Given the description of an element on the screen output the (x, y) to click on. 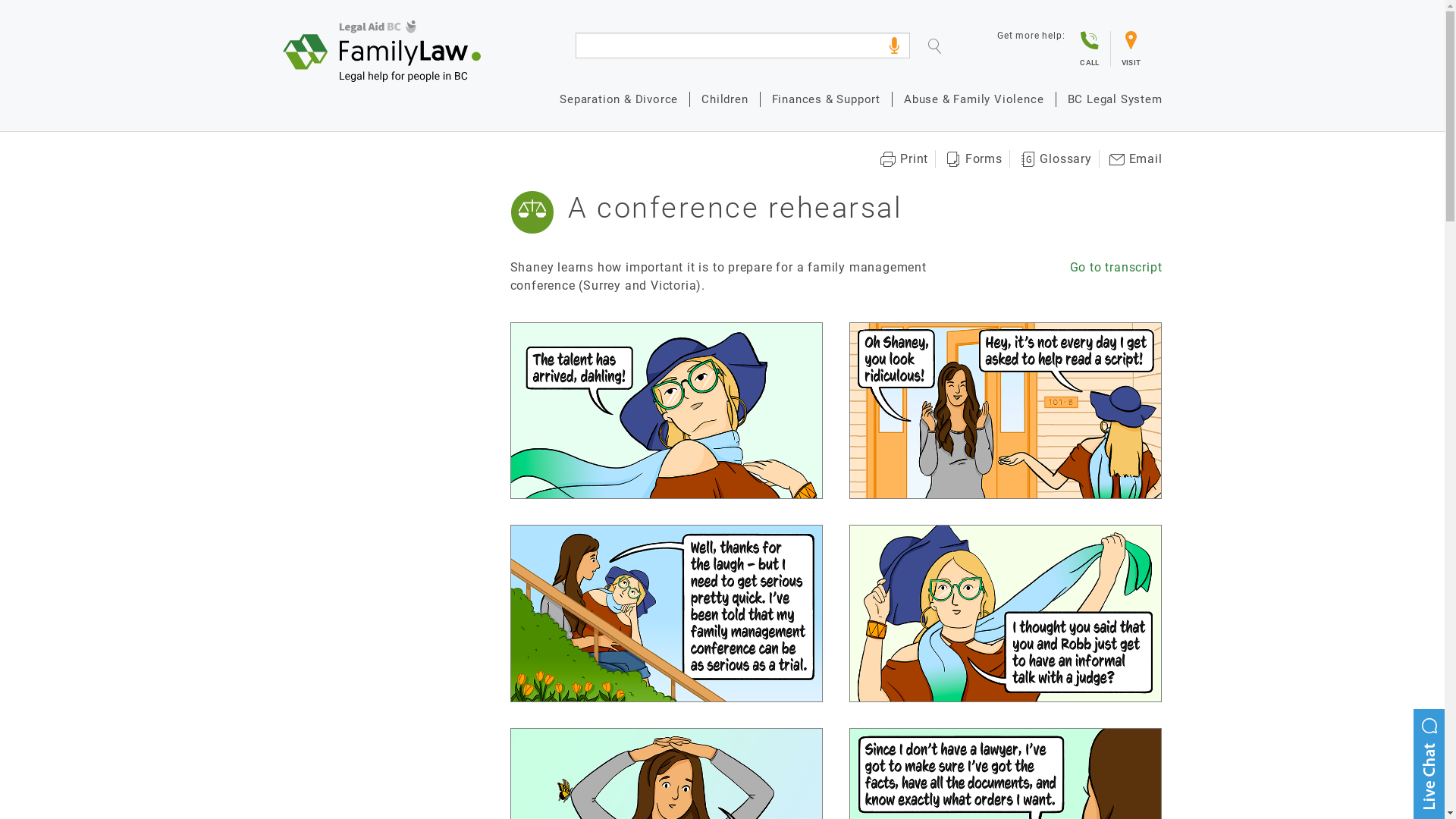
Forms Element type: text (973, 159)
BC Legal System Element type: text (1108, 98)
Separation & Divorce Element type: text (618, 98)
Email Element type: text (1135, 159)
Go to transcript Element type: text (1116, 267)
VISIT Element type: text (1130, 47)
click for voice search Element type: hover (893, 45)
Finances & Support Element type: text (825, 98)
Children Element type: text (724, 98)
Search Element type: text (946, 48)
CALL Element type: text (1088, 47)
Glossary Element type: text (1055, 159)
Abuse & Family Violence Element type: text (972, 98)
Skip to main content Element type: text (0, 0)
Print Element type: text (904, 159)
